Given the description of an element on the screen output the (x, y) to click on. 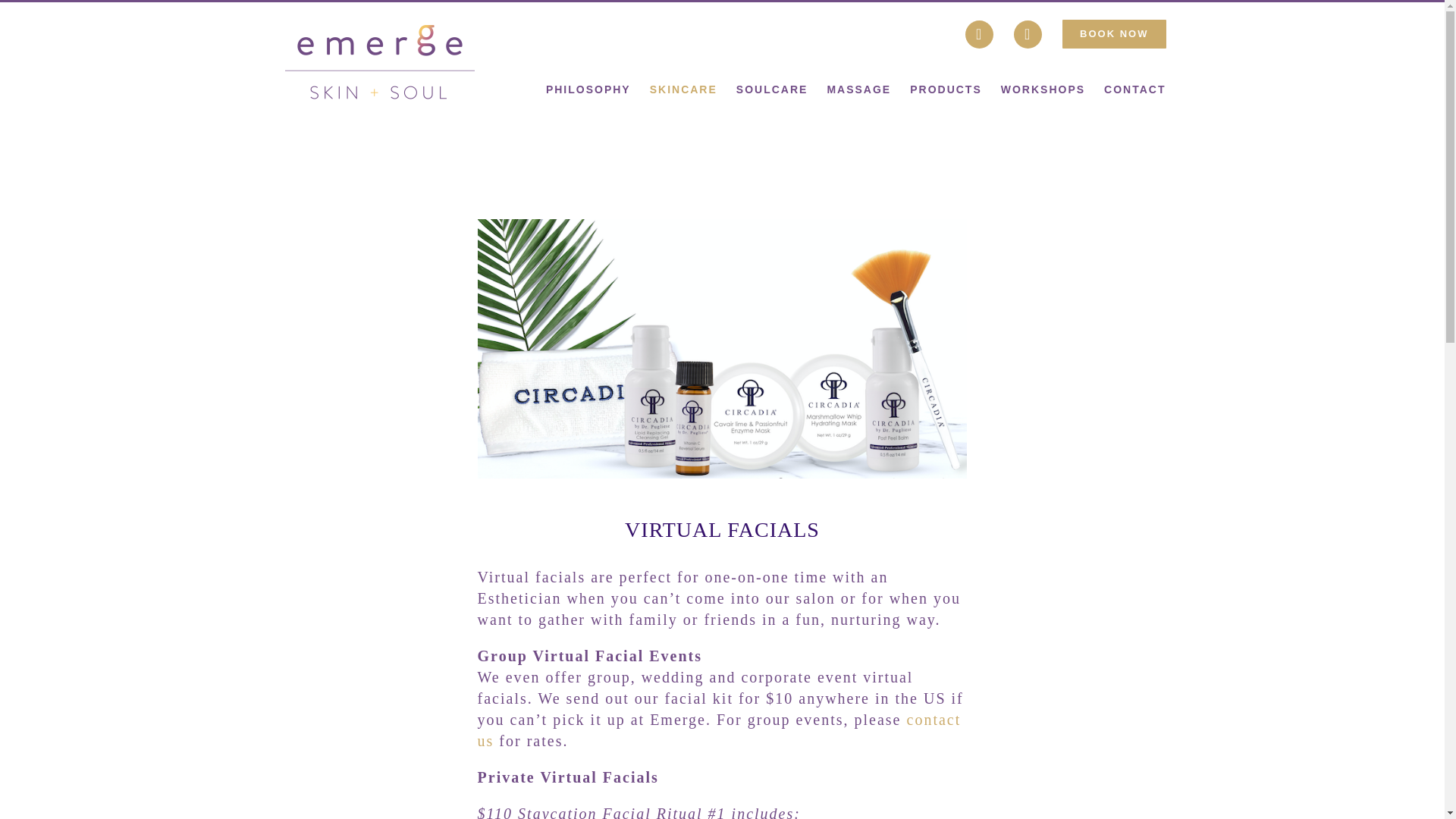
Virtual Facial Kit (722, 348)
PRODUCTS (945, 89)
BOOK NOW (1109, 33)
SOULCARE (772, 89)
WORKSHOPS (1042, 89)
contact us (718, 730)
PHILOSOPHY (588, 89)
SKINCARE (683, 89)
